Given the description of an element on the screen output the (x, y) to click on. 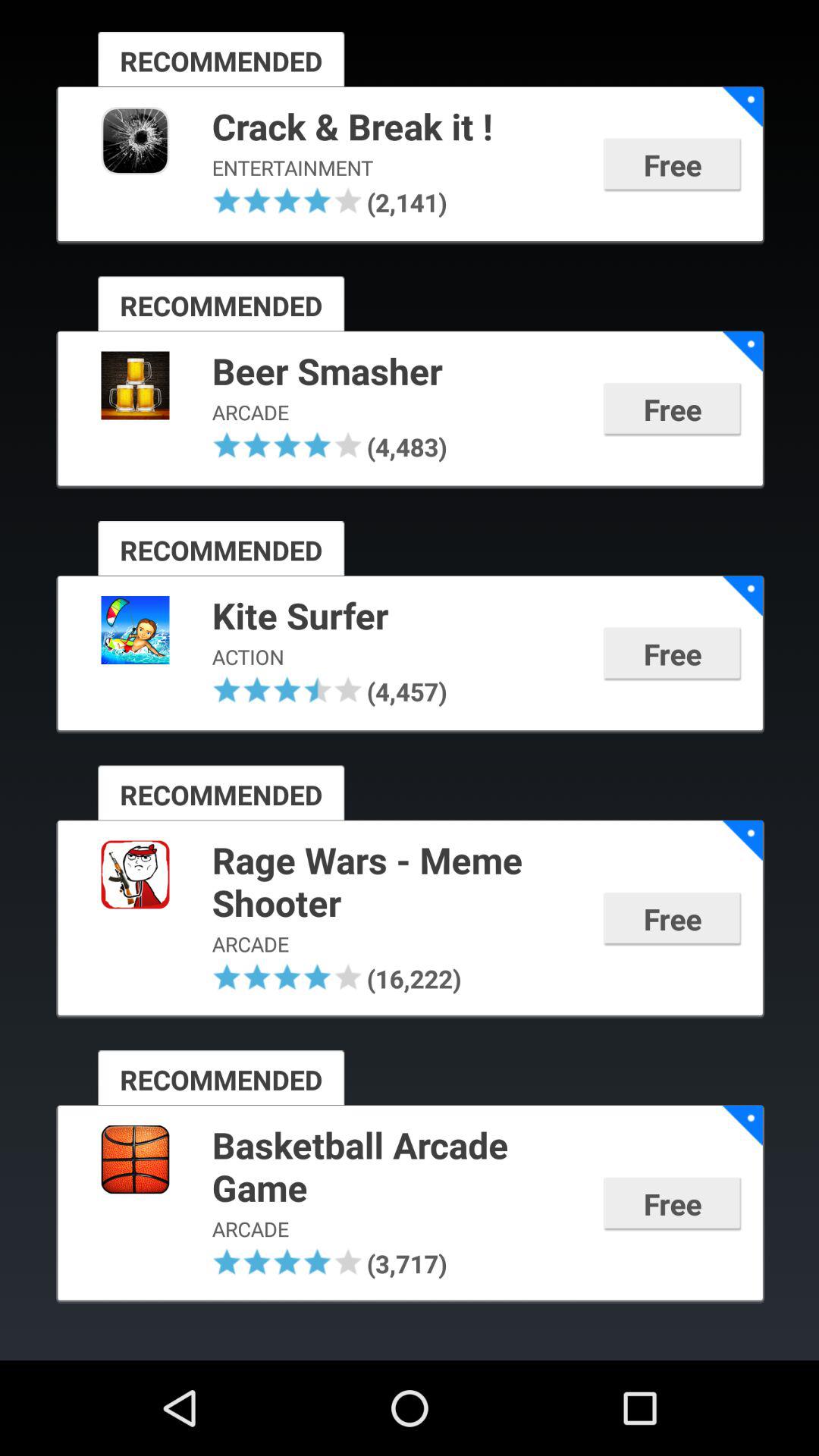
tap the app below entertainment (404, 201)
